Given the description of an element on the screen output the (x, y) to click on. 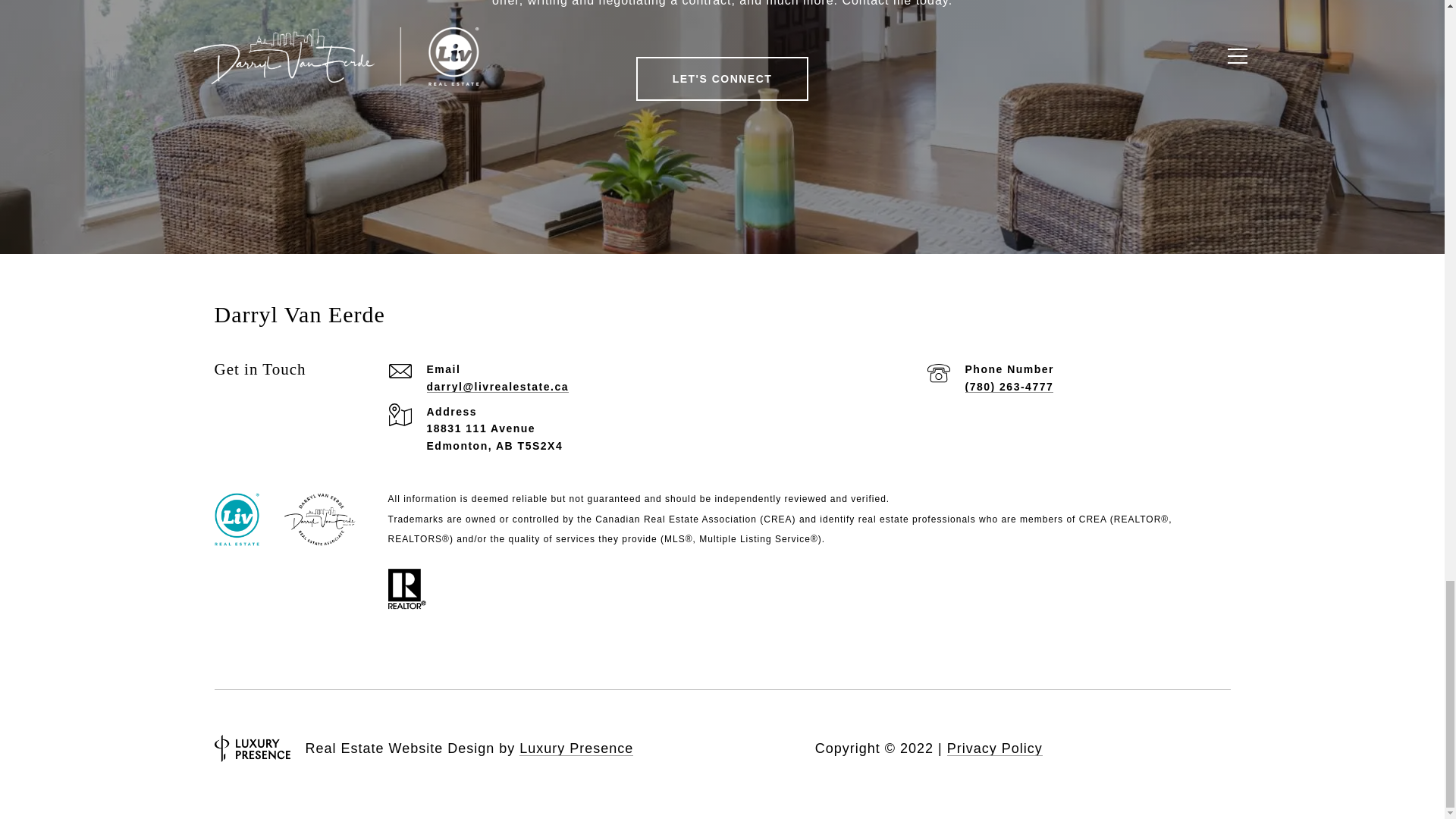
Luxury Presence (576, 748)
LET'S CONNECT (722, 78)
Privacy Policy (994, 748)
